Given the description of an element on the screen output the (x, y) to click on. 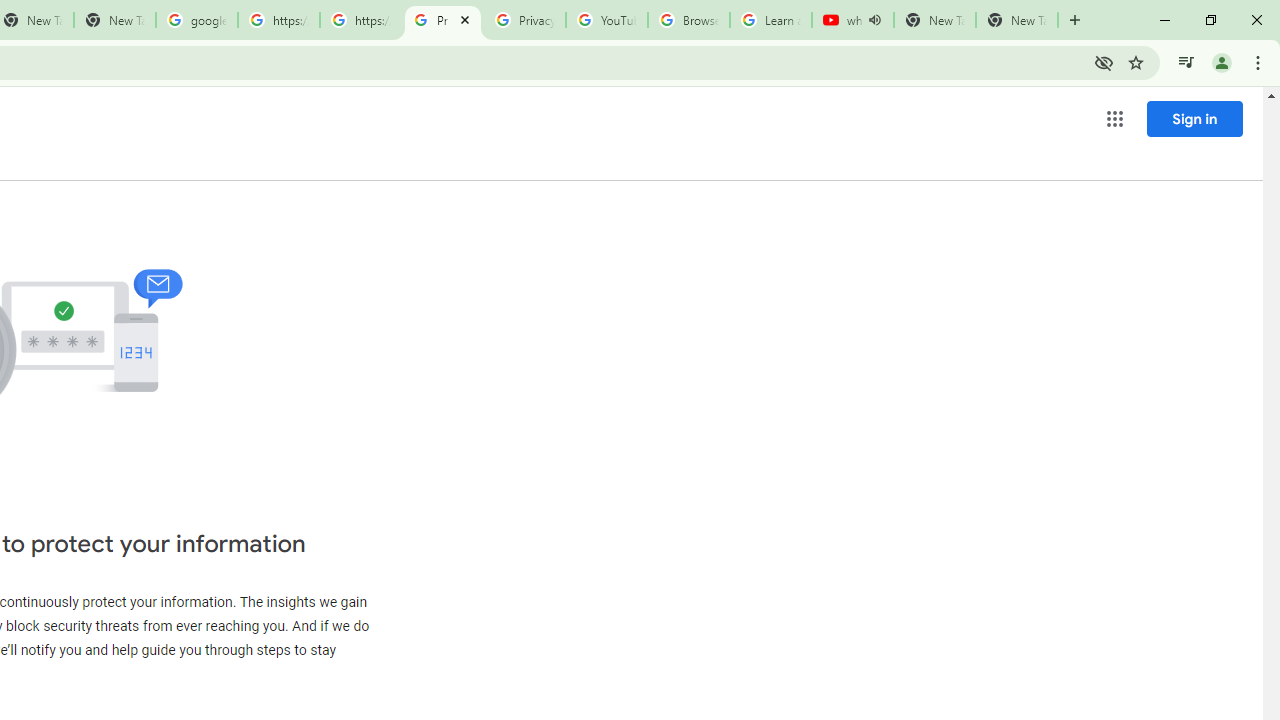
Browse Chrome as a guest - Computer - Google Chrome Help (688, 20)
